Given the description of an element on the screen output the (x, y) to click on. 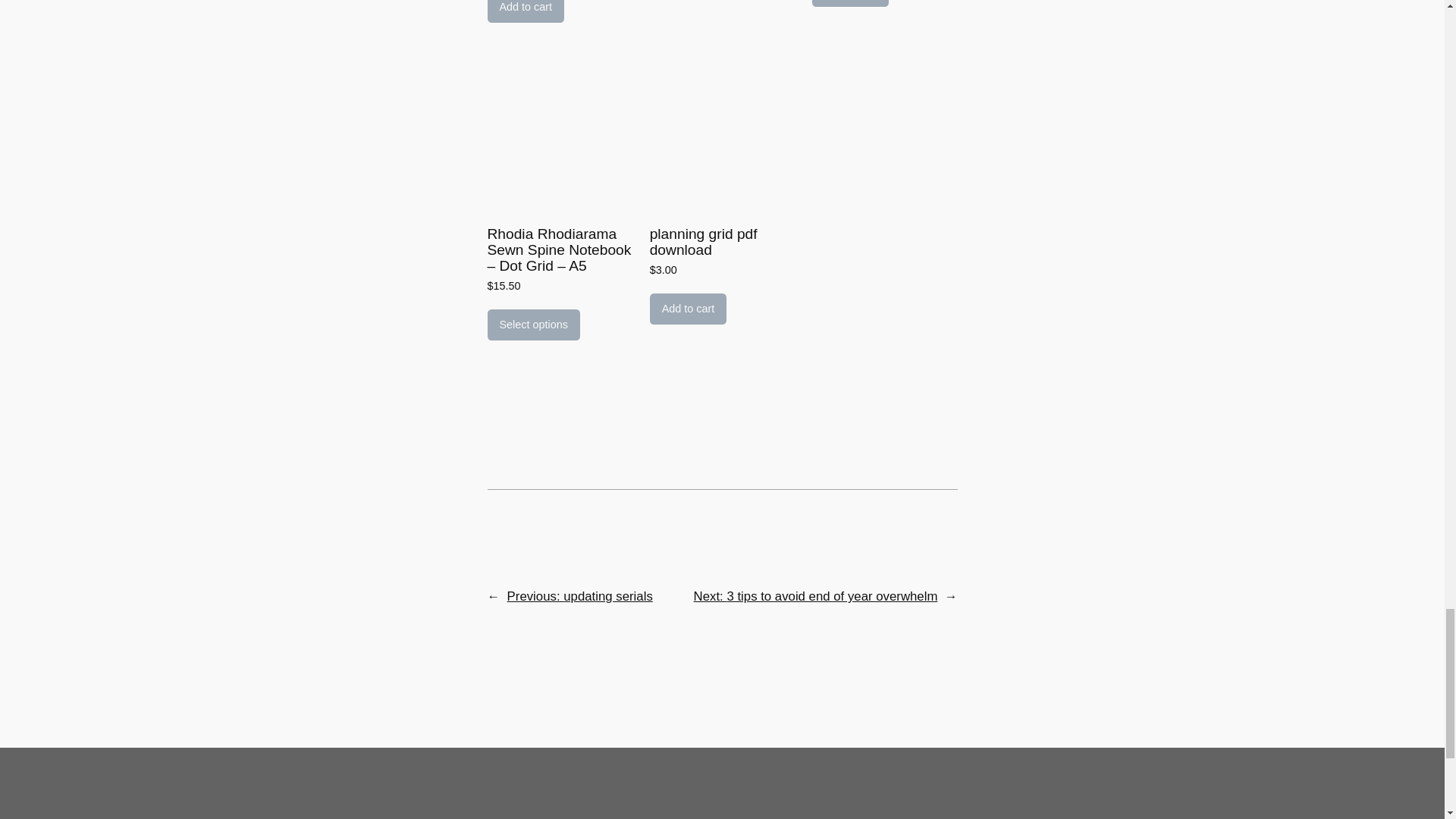
Add to cart (687, 309)
Add to cart (850, 3)
Add to cart (525, 11)
Next: 3 tips to avoid end of year overwhelm (815, 595)
Select options (532, 325)
Previous: updating serials (579, 595)
